Given the description of an element on the screen output the (x, y) to click on. 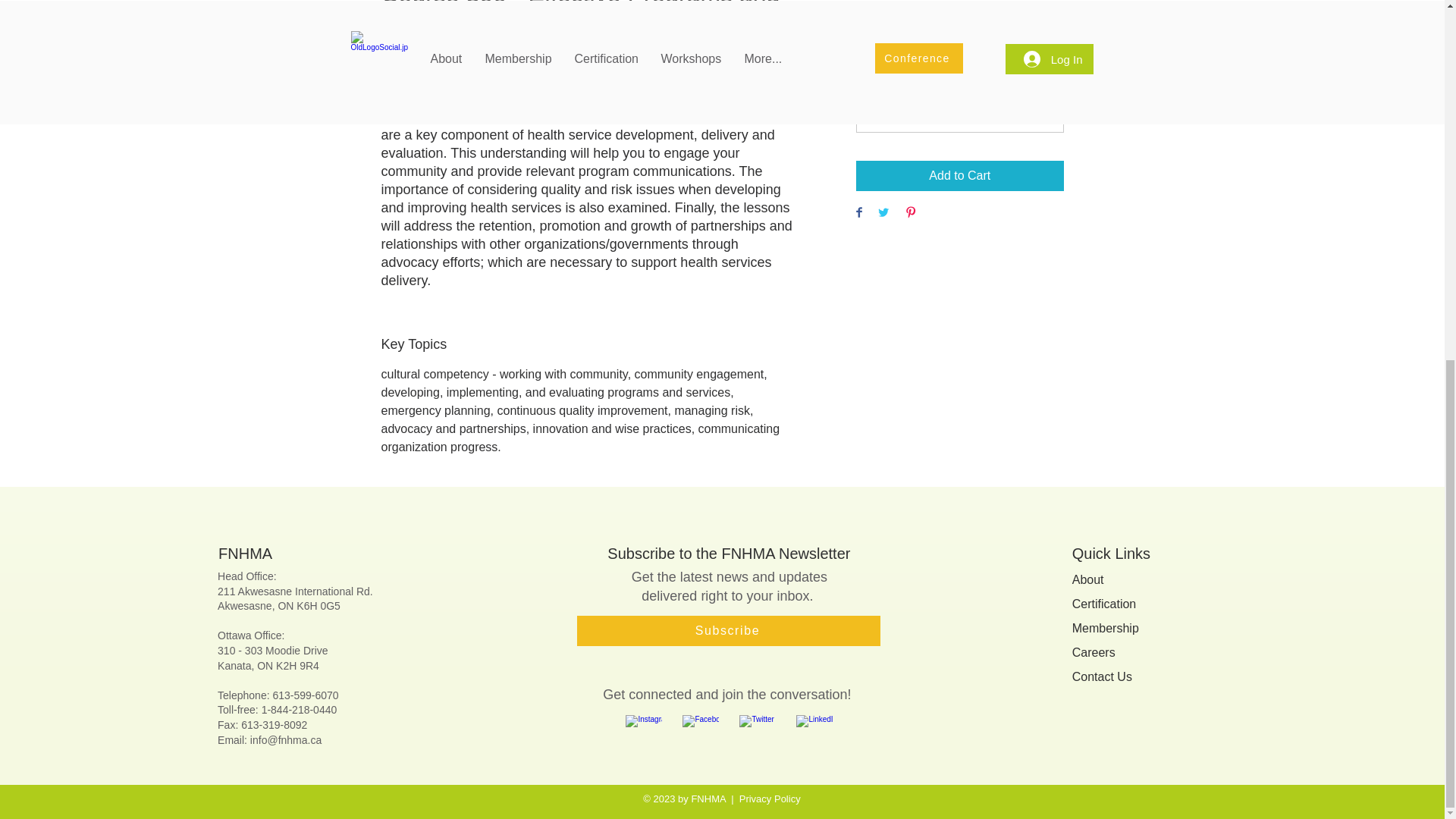
Add to Cart (959, 175)
Membership (1104, 627)
Careers (1093, 652)
About (1087, 579)
Subscribe (728, 630)
Certification (1103, 603)
FNHMA (245, 553)
Contact Us (1101, 676)
